Given the description of an element on the screen output the (x, y) to click on. 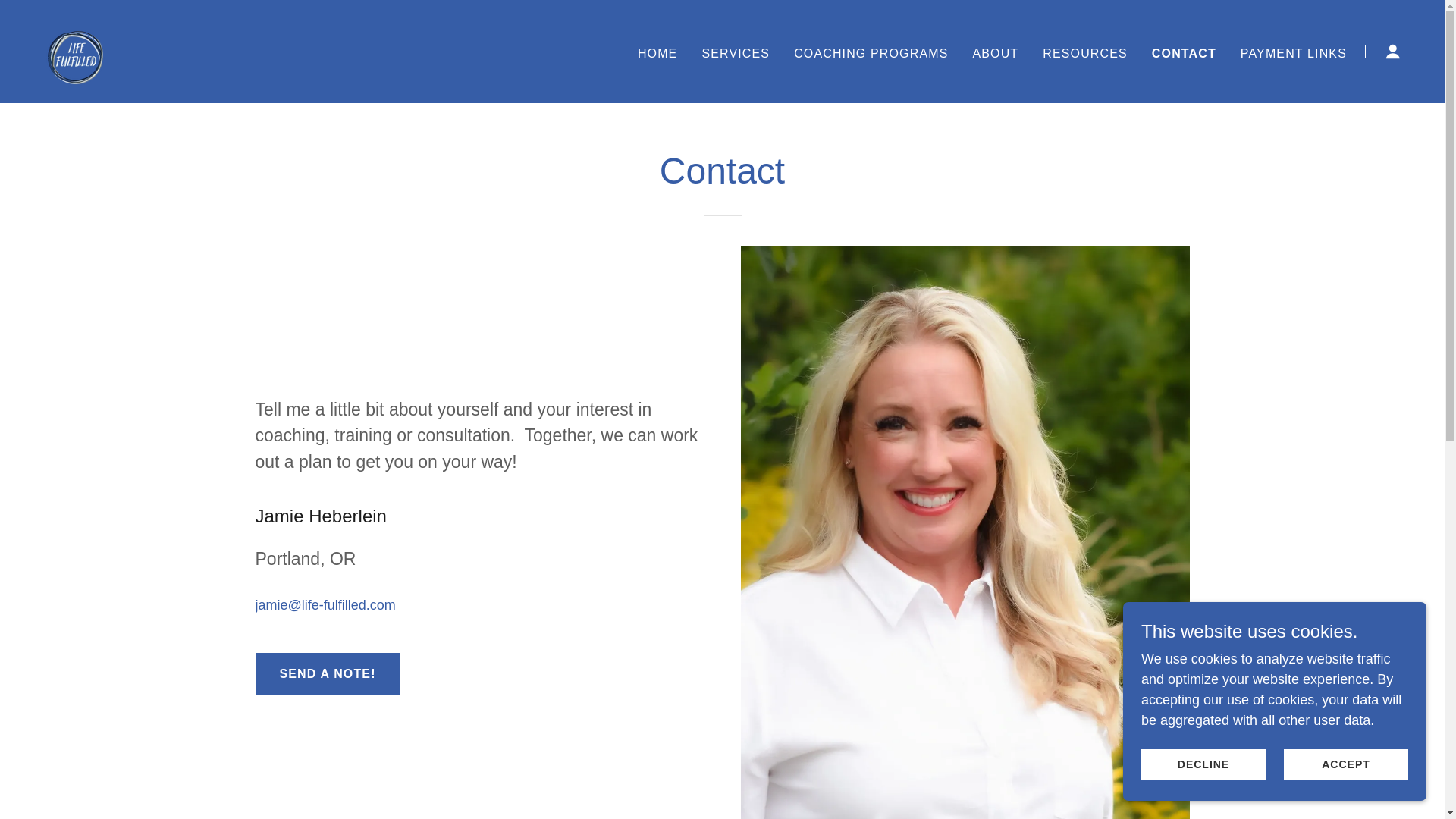
SERVICES (735, 52)
CONTACT (1183, 53)
COACHING PROGRAMS (870, 52)
PAYMENT LINKS (1293, 52)
RESOURCES (1085, 52)
HOME (657, 52)
ABOUT (995, 52)
SEND A NOTE! (326, 673)
